Given the description of an element on the screen output the (x, y) to click on. 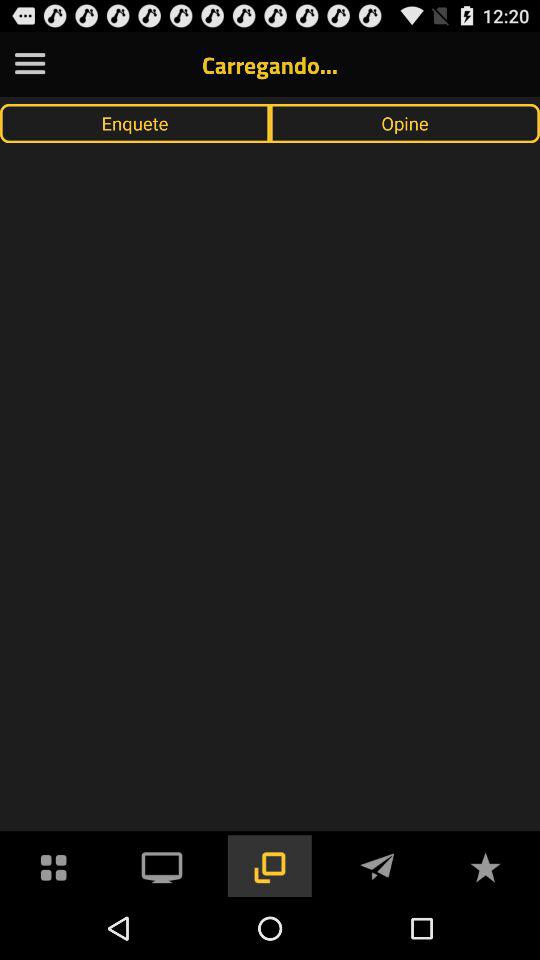
open item to the left of opine item (135, 123)
